Given the description of an element on the screen output the (x, y) to click on. 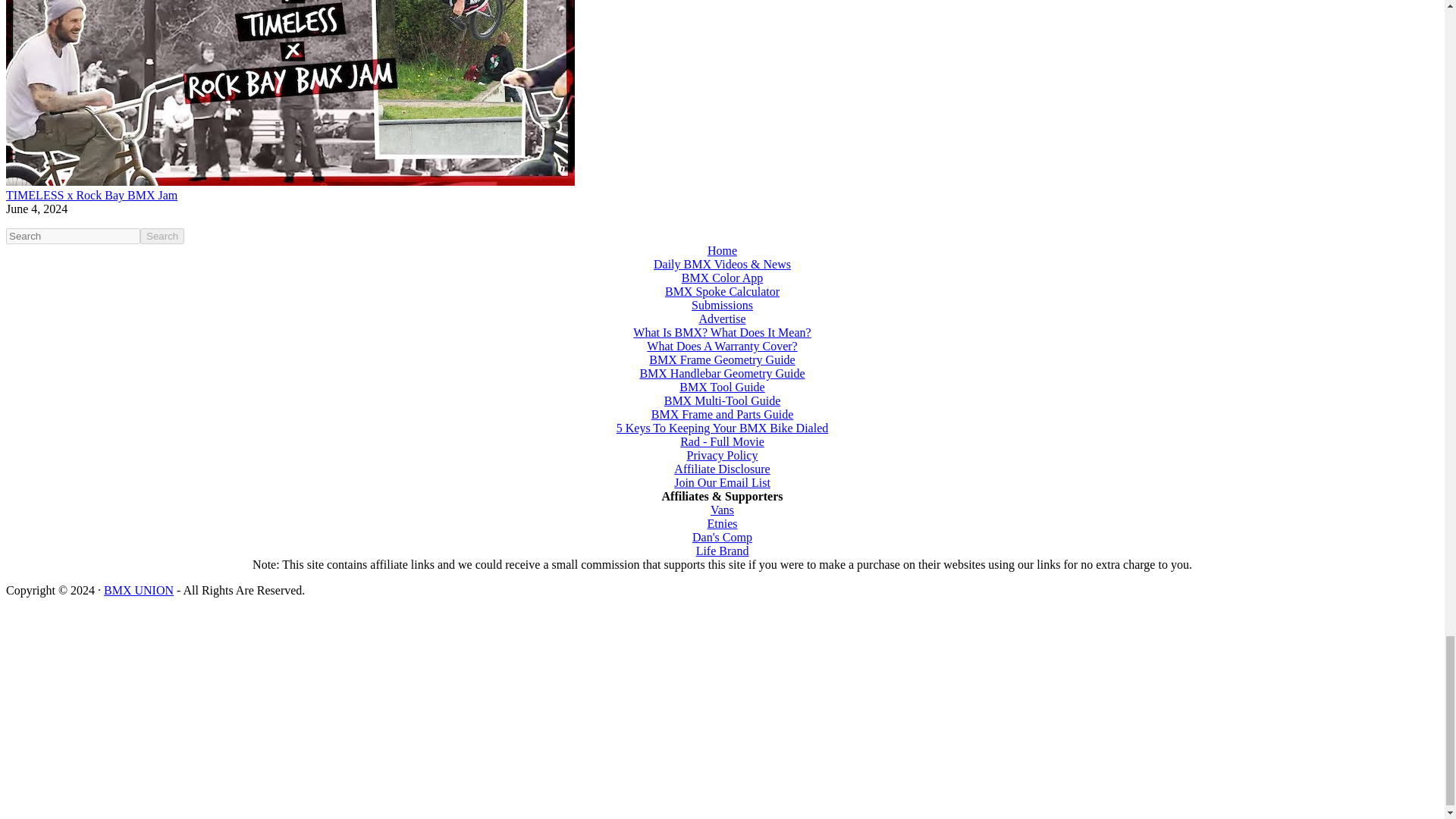
Search (161, 236)
Search (161, 236)
